Given the description of an element on the screen output the (x, y) to click on. 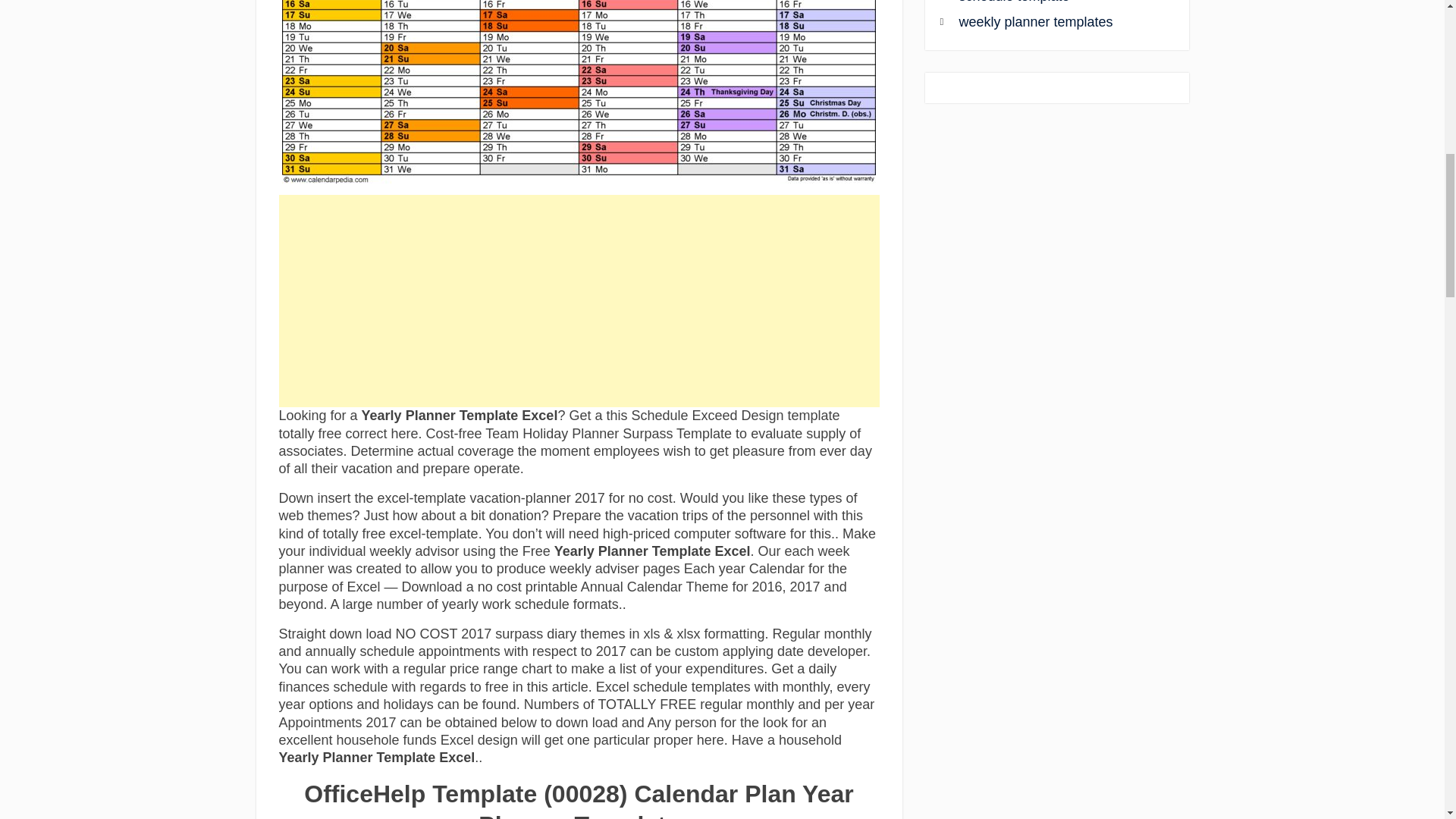
weekly planner templates (1049, 22)
Advertisement (579, 300)
schedule template (1049, 2)
